Given the description of an element on the screen output the (x, y) to click on. 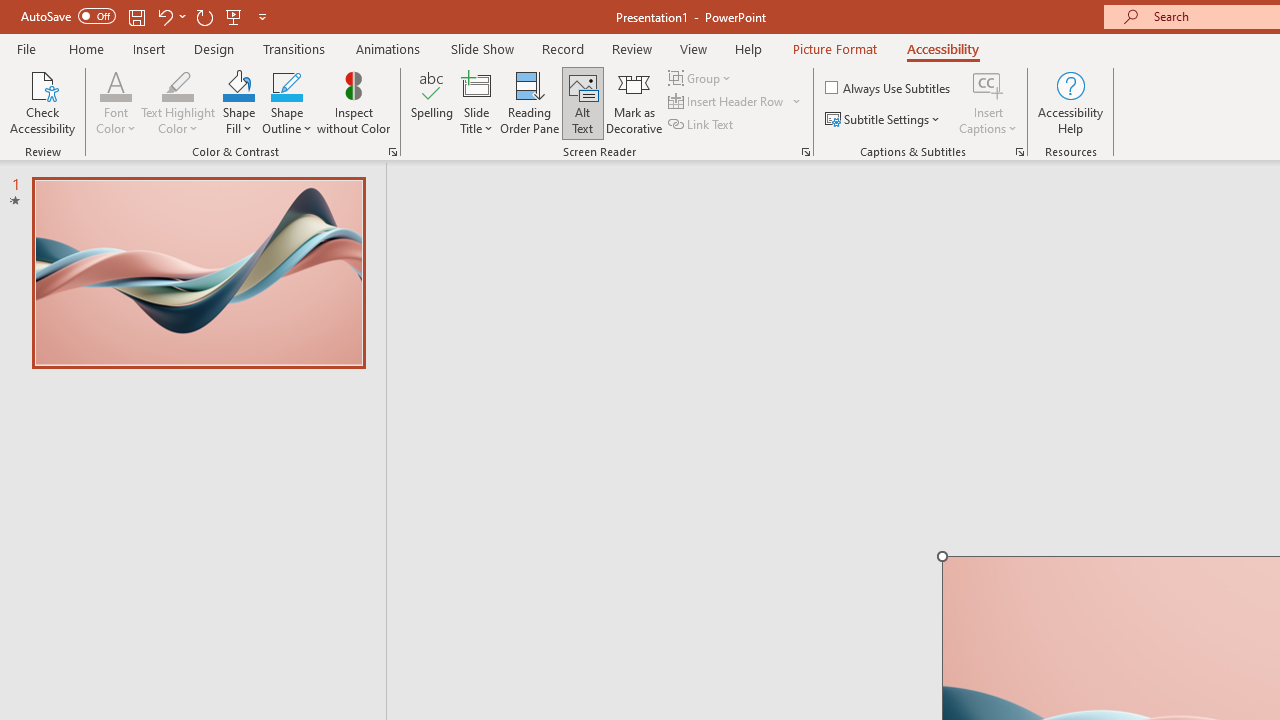
Subtitle Settings (884, 119)
Captions & Subtitles (1019, 151)
Always Use Subtitles (889, 87)
